Given the description of an element on the screen output the (x, y) to click on. 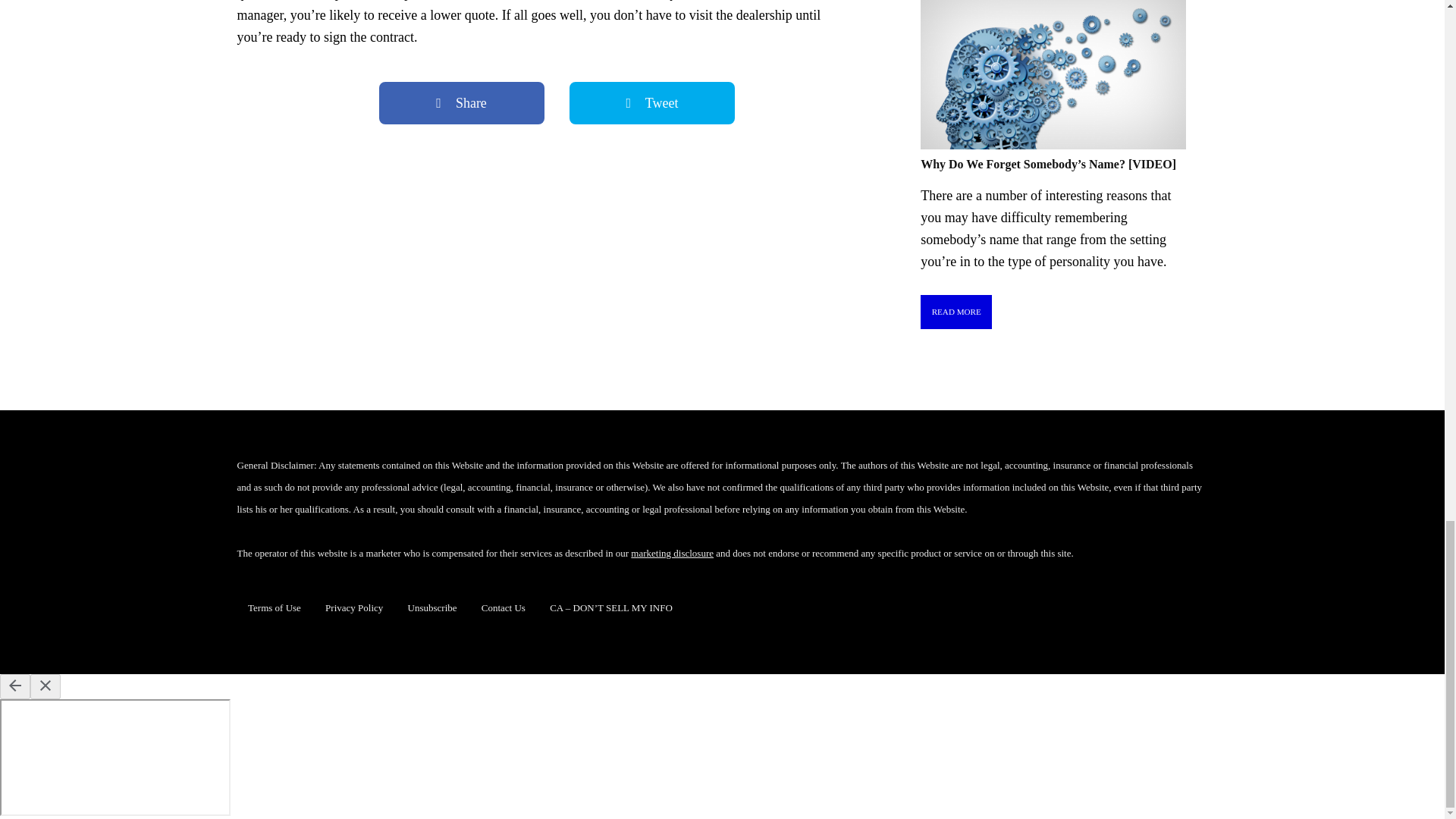
Unsubscribe (432, 607)
READ MORE (955, 311)
Contact Us (503, 607)
Privacy Policy (353, 607)
Share (461, 102)
marketing disclosure (671, 552)
Terms of Use (274, 607)
Tweet (652, 102)
